Given the description of an element on the screen output the (x, y) to click on. 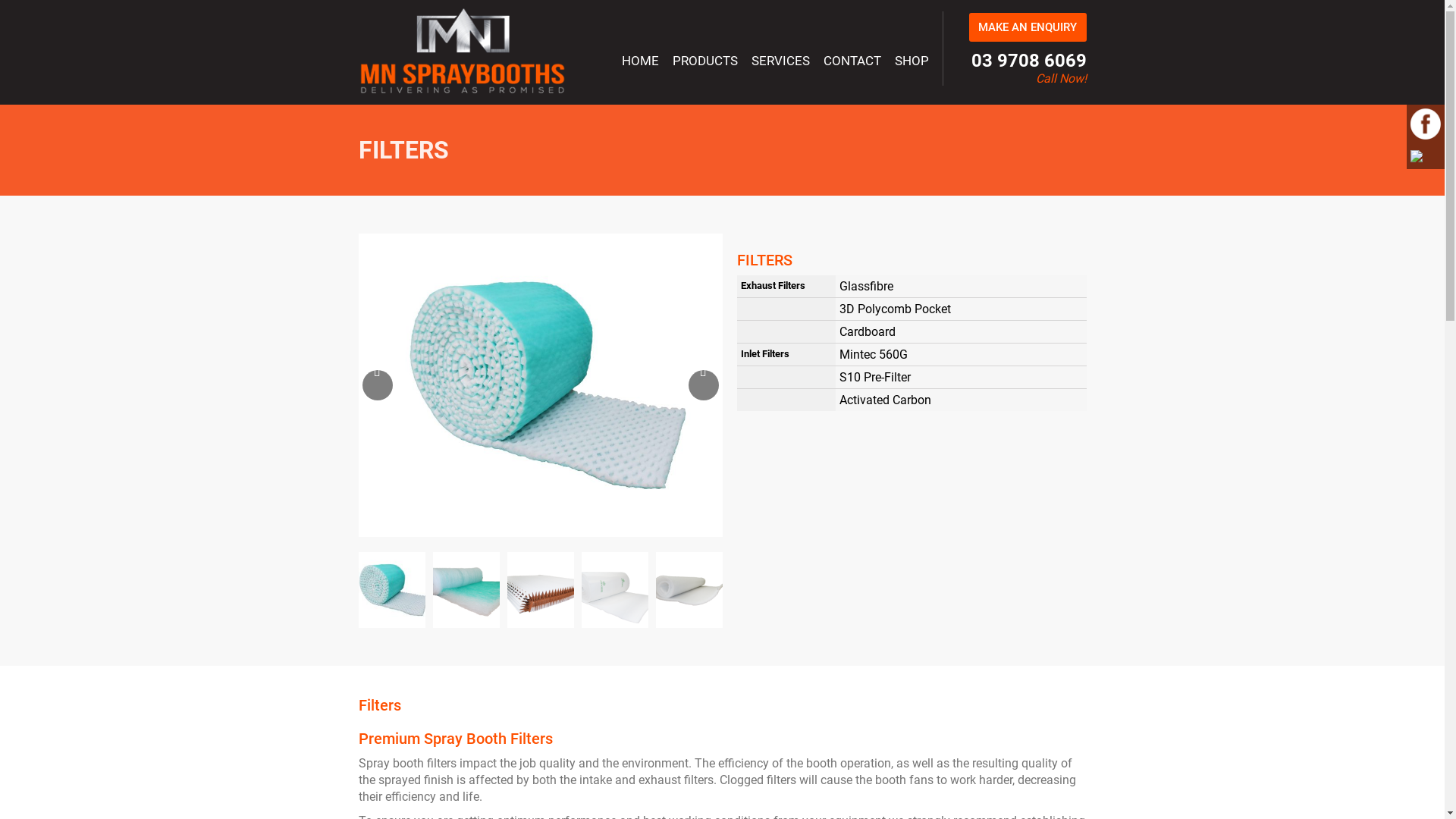
SHOP Element type: text (910, 65)
MAKE AN ENQUIRY Element type: text (1027, 26)
03 9708 6069 Element type: text (1027, 60)
MN SPRAYBOOTHS Element type: hover (461, 88)
CONTACT Element type: text (851, 65)
HOME Element type: text (639, 65)
PRODUCTS Element type: text (705, 65)
SERVICES Element type: text (780, 65)
